Given the description of an element on the screen output the (x, y) to click on. 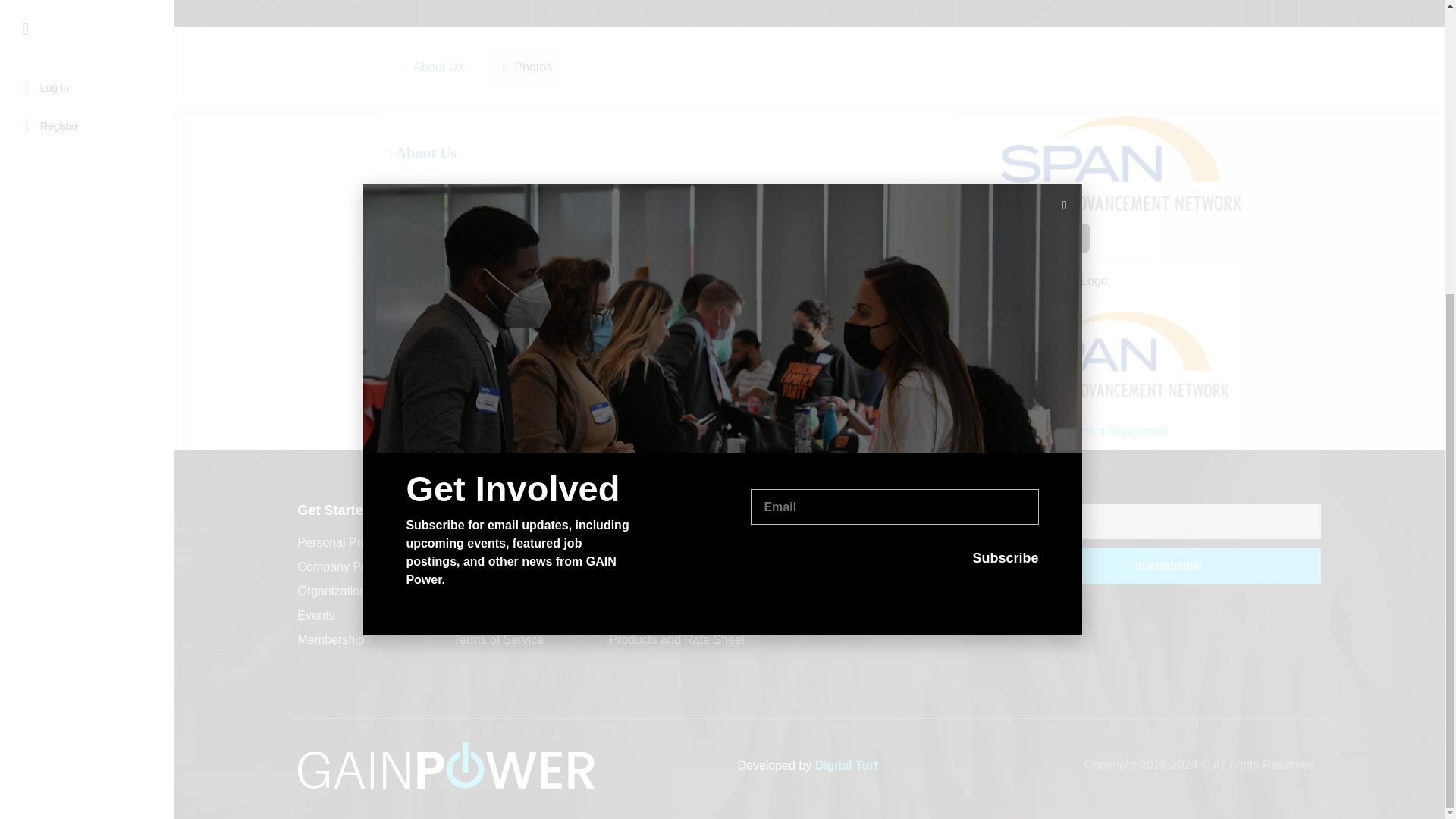
About Us (431, 66)
About Us (431, 66)
Photos (524, 66)
About Us (422, 152)
Photos (524, 66)
